Given the description of an element on the screen output the (x, y) to click on. 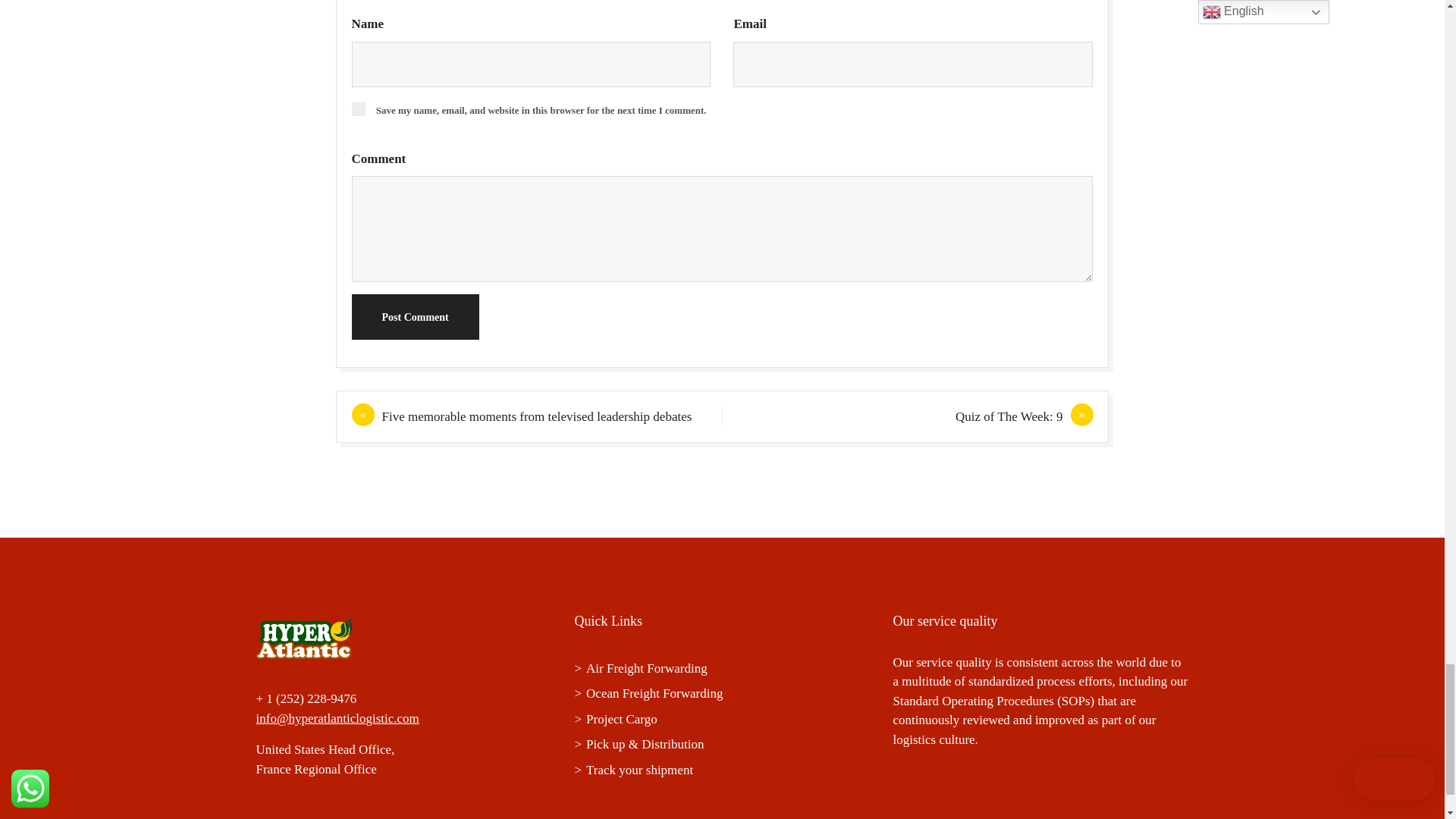
yes (358, 109)
